Given the description of an element on the screen output the (x, y) to click on. 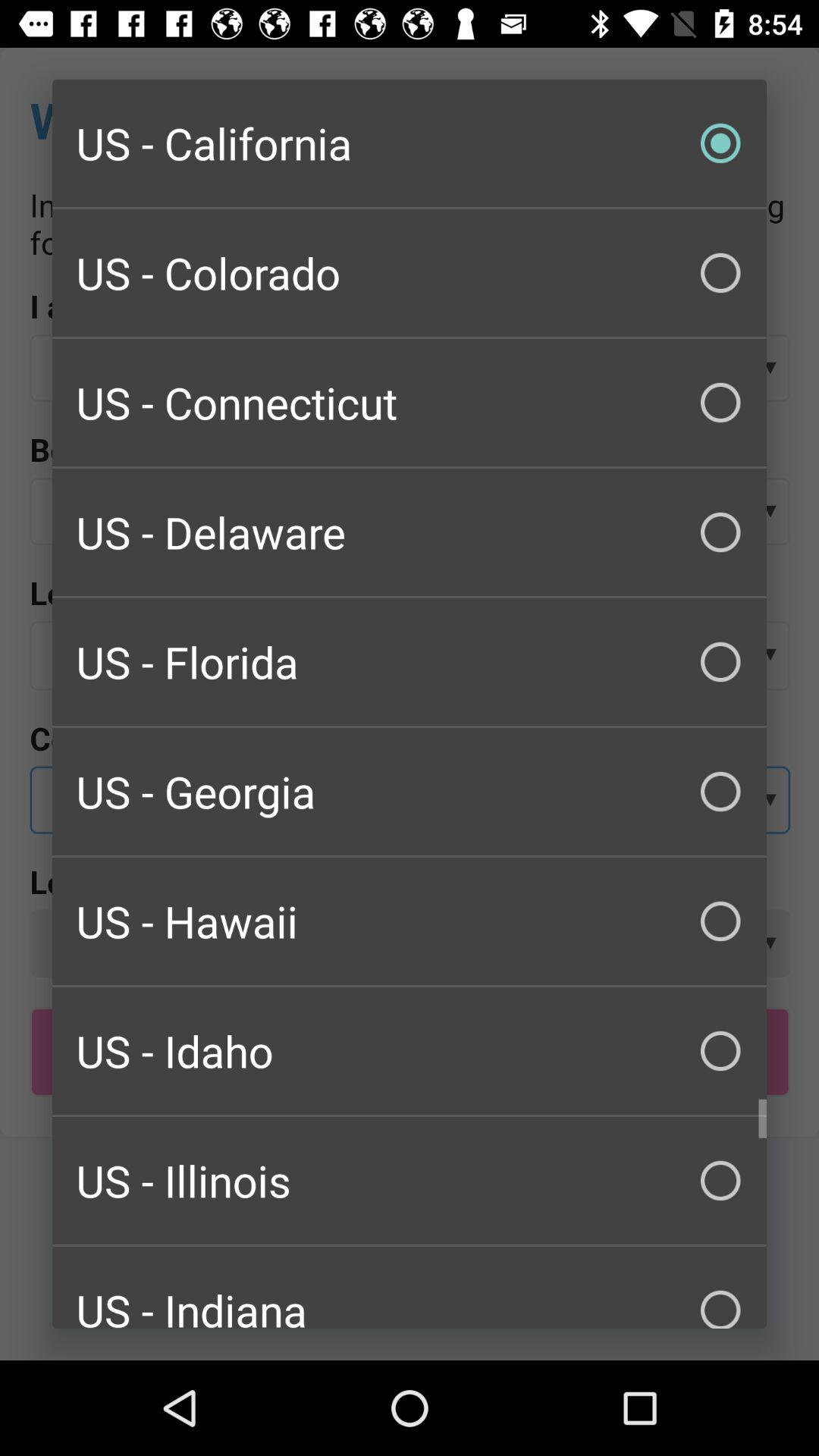
select the icon above the us - connecticut (409, 272)
